Given the description of an element on the screen output the (x, y) to click on. 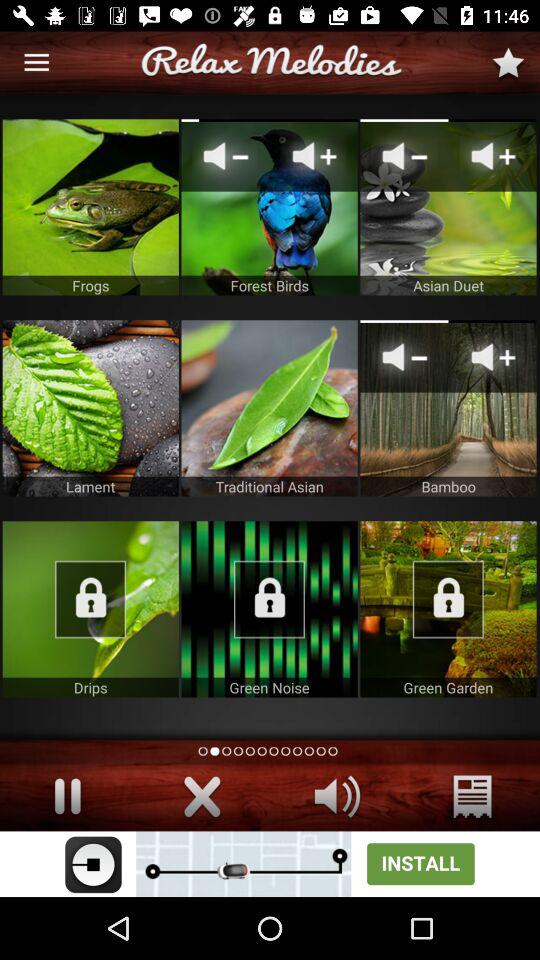
stop button (67, 796)
